Given the description of an element on the screen output the (x, y) to click on. 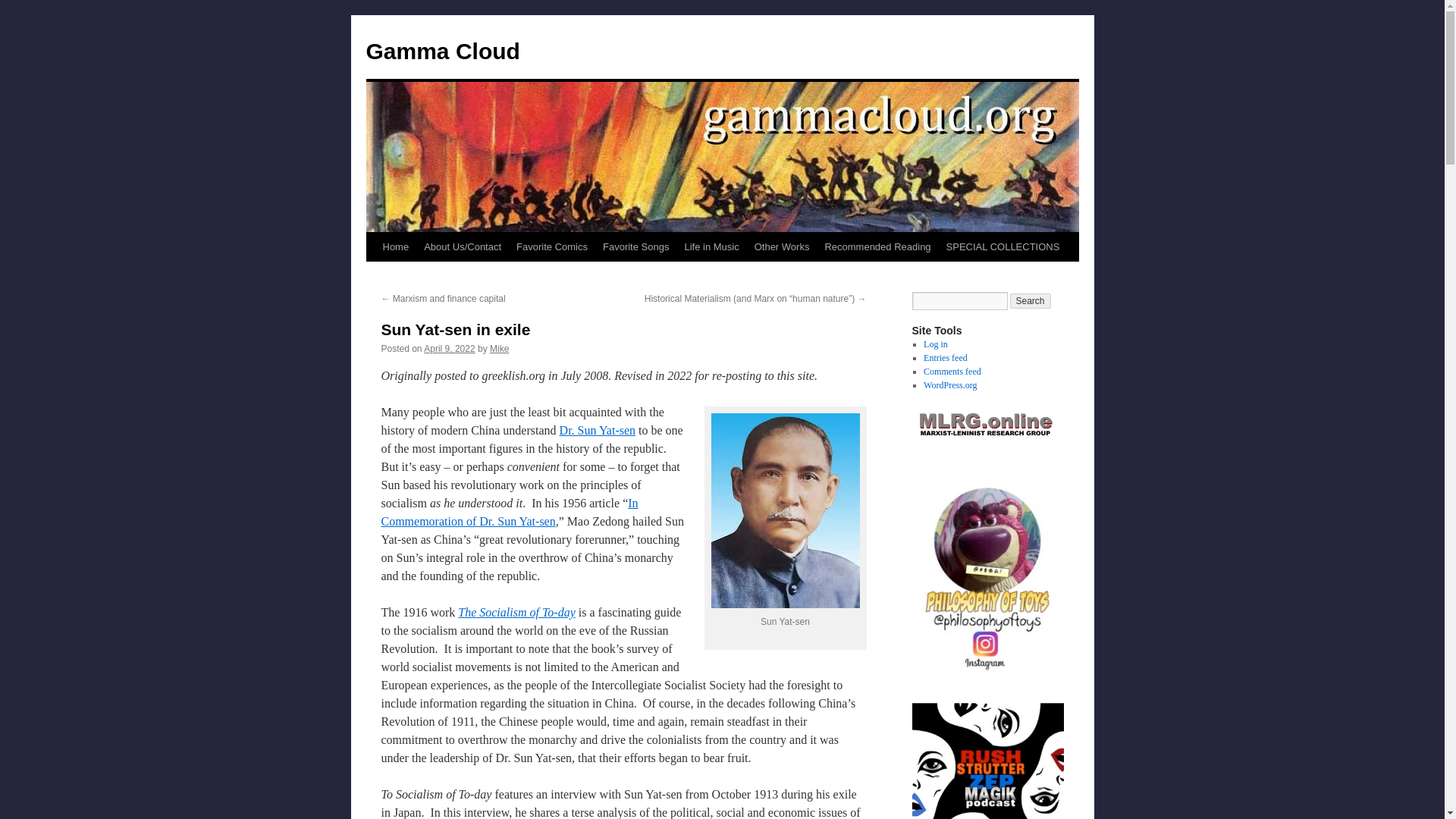
Favorite Comics (551, 246)
Gamma Cloud (442, 50)
In Commemoration of Dr. Sun Yat-sen (508, 511)
Recommended Reading (876, 246)
6:21 pm (448, 348)
Skip to content (372, 274)
Other Works (781, 246)
Life in Music (711, 246)
View all posts by Mike (498, 348)
April 9, 2022 (448, 348)
Gamma Cloud (442, 50)
Favorite Songs (636, 246)
Home (395, 246)
The Socialism of To-day (516, 612)
Skip to content (372, 274)
